Given the description of an element on the screen output the (x, y) to click on. 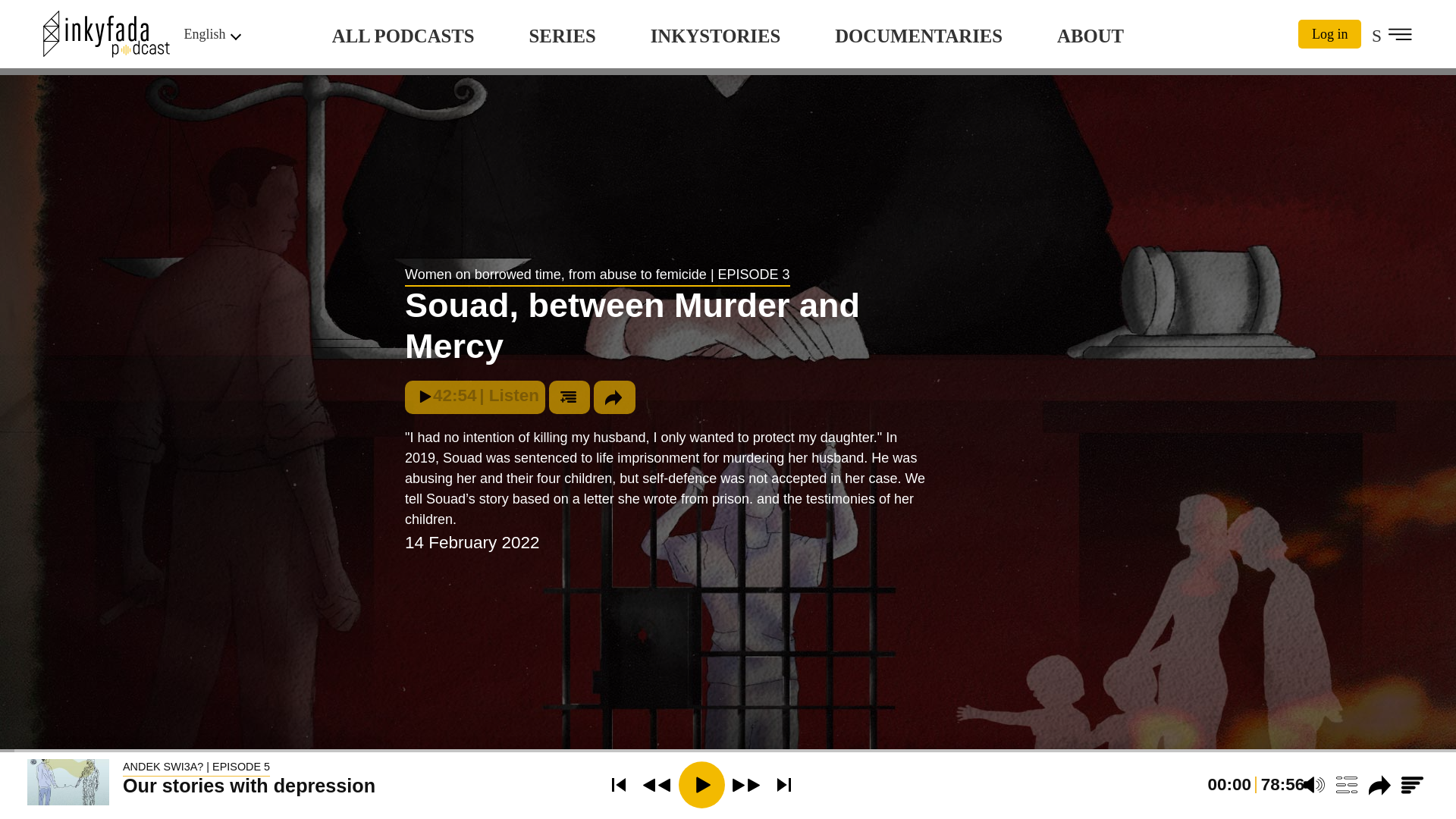
SERIES (562, 35)
INKYSTORIES (715, 35)
ALL PODCASTS (402, 35)
Log in (1329, 33)
ABOUT (1090, 35)
Play (701, 784)
DOCUMENTARIES (918, 35)
